Given the description of an element on the screen output the (x, y) to click on. 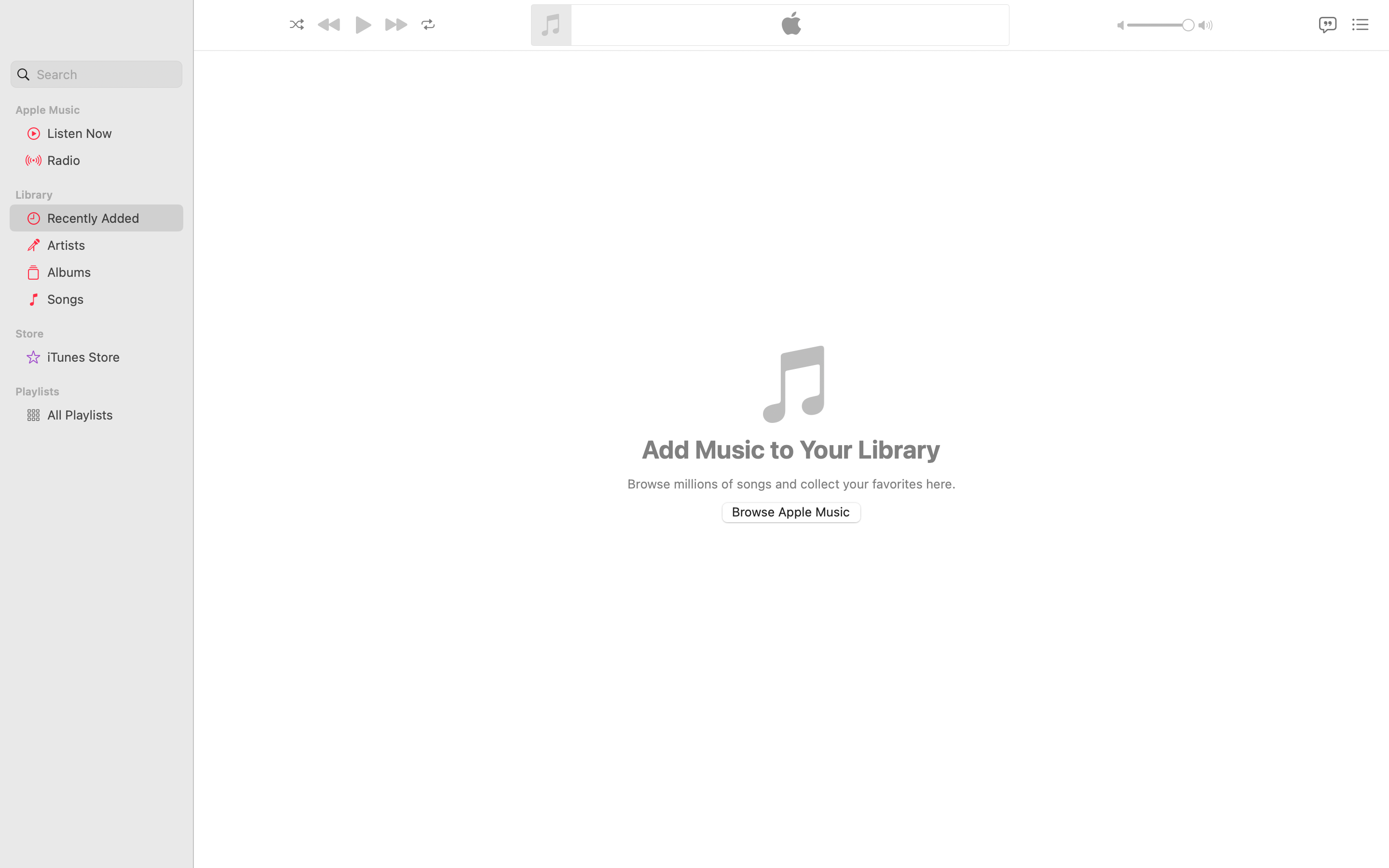
Library Element type: AXStaticText (95, 194)
Store Element type: AXStaticText (101, 333)
Add Music to Your Library Element type: AXStaticText (790, 448)
Artists Element type: AXStaticText (111, 244)
1.0 Element type: AXSlider (1160, 24)
